Given the description of an element on the screen output the (x, y) to click on. 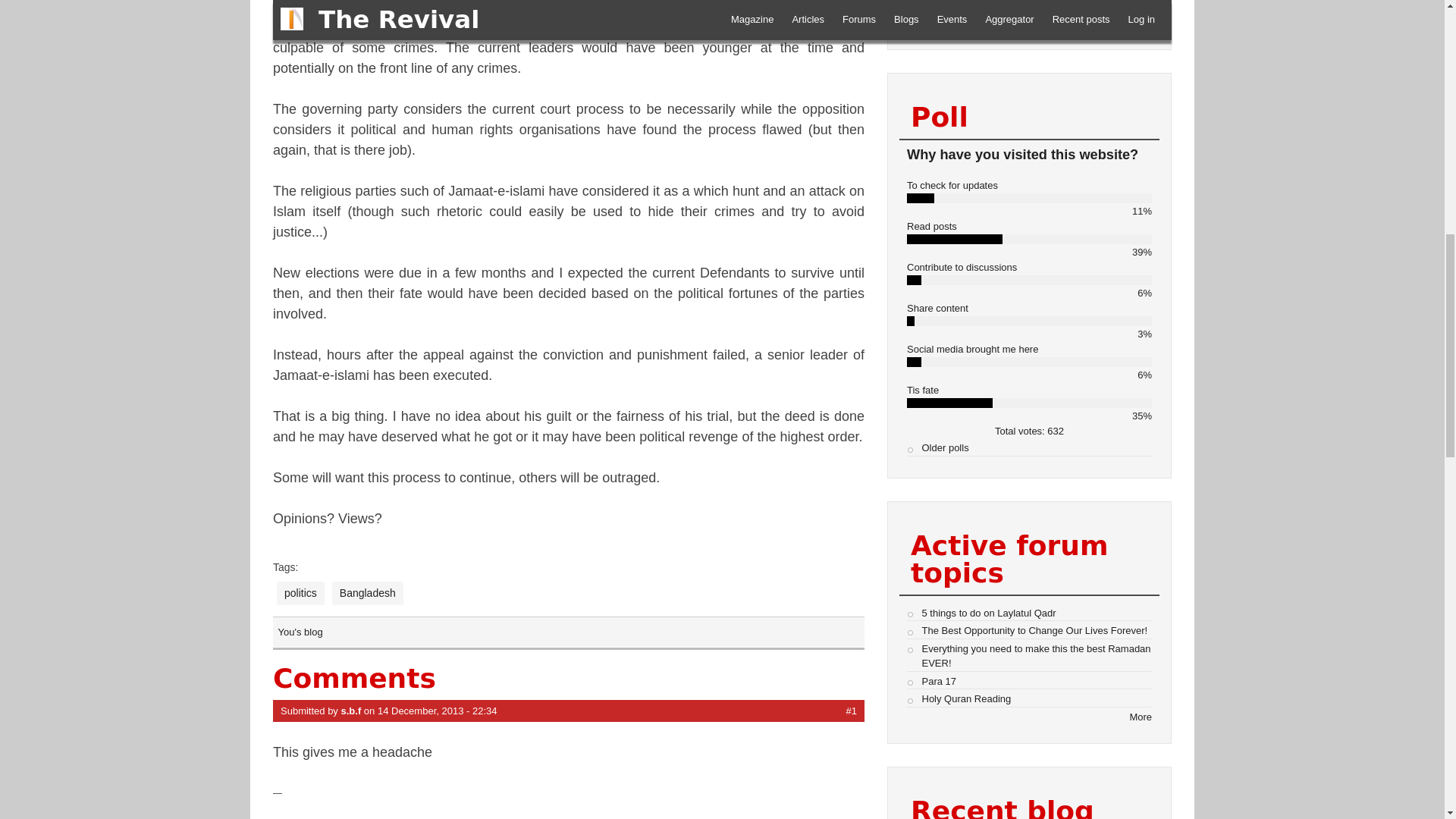
Bangladesh (367, 592)
View user profile. (350, 710)
Read You's latest blog entries. (299, 632)
You's blog (299, 632)
s.b.f (350, 710)
politics (300, 592)
